Given the description of an element on the screen output the (x, y) to click on. 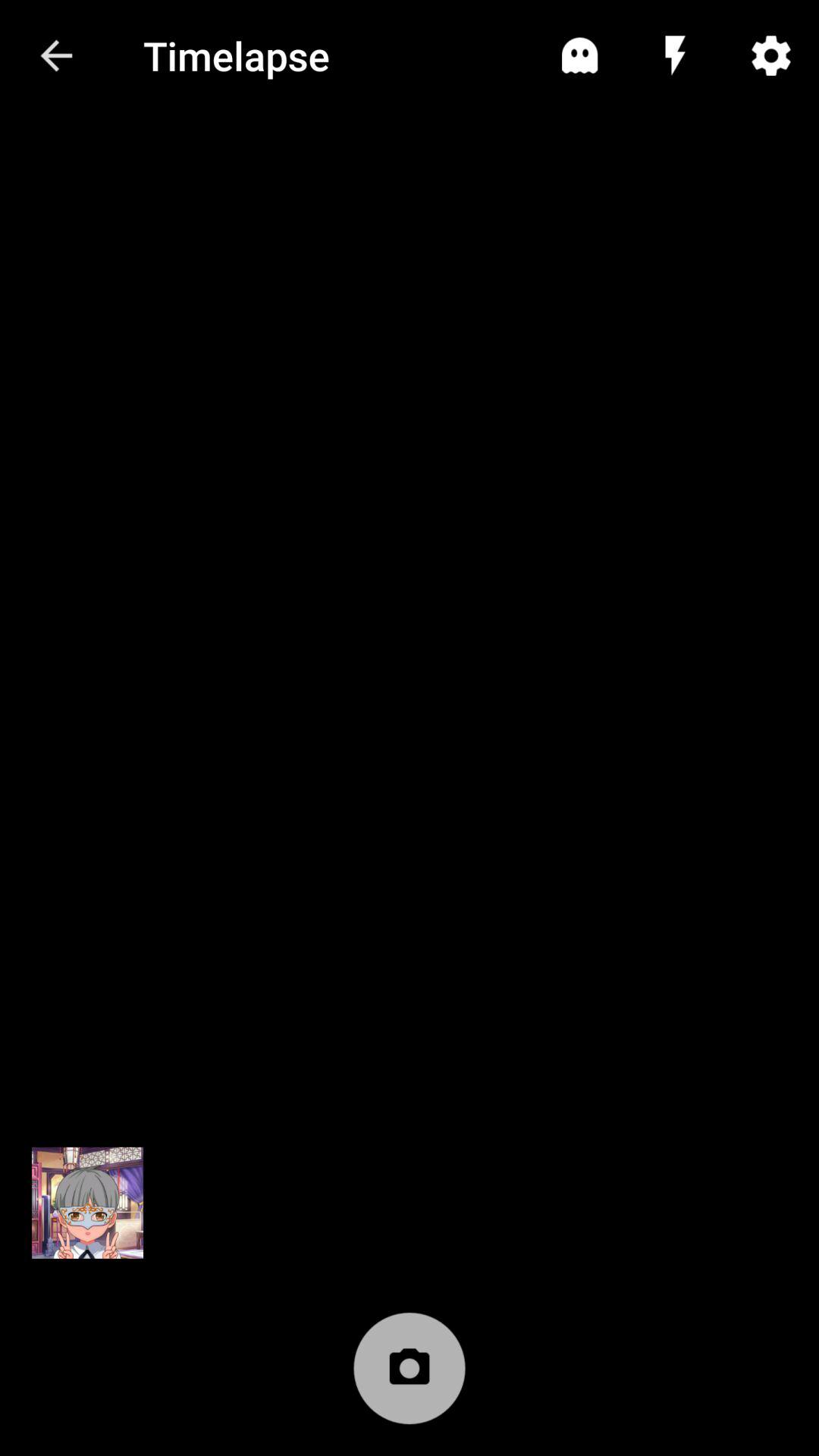
camera (409, 1376)
